Given the description of an element on the screen output the (x, y) to click on. 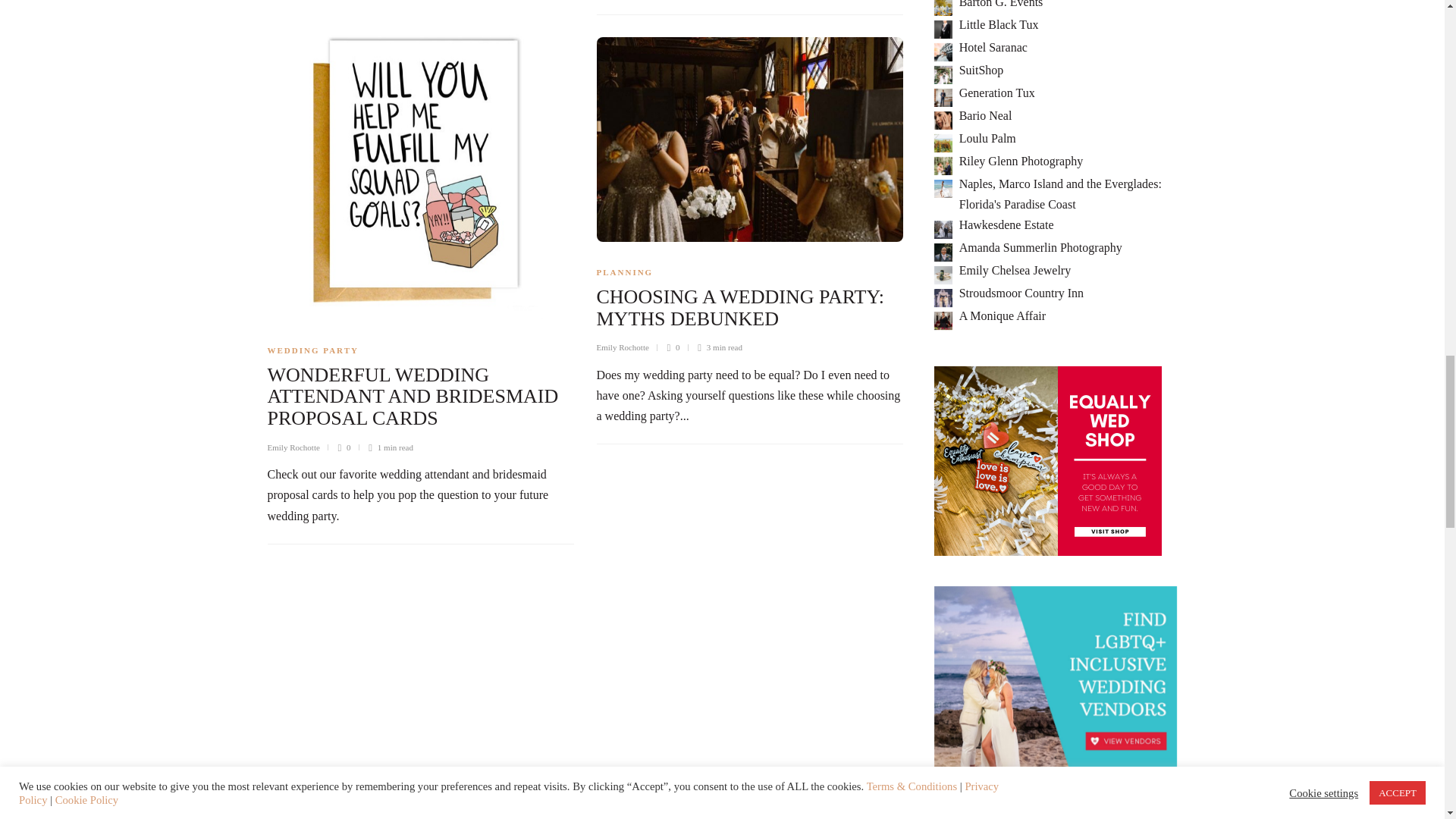
Barton G. Events (1001, 4)
